Given the description of an element on the screen output the (x, y) to click on. 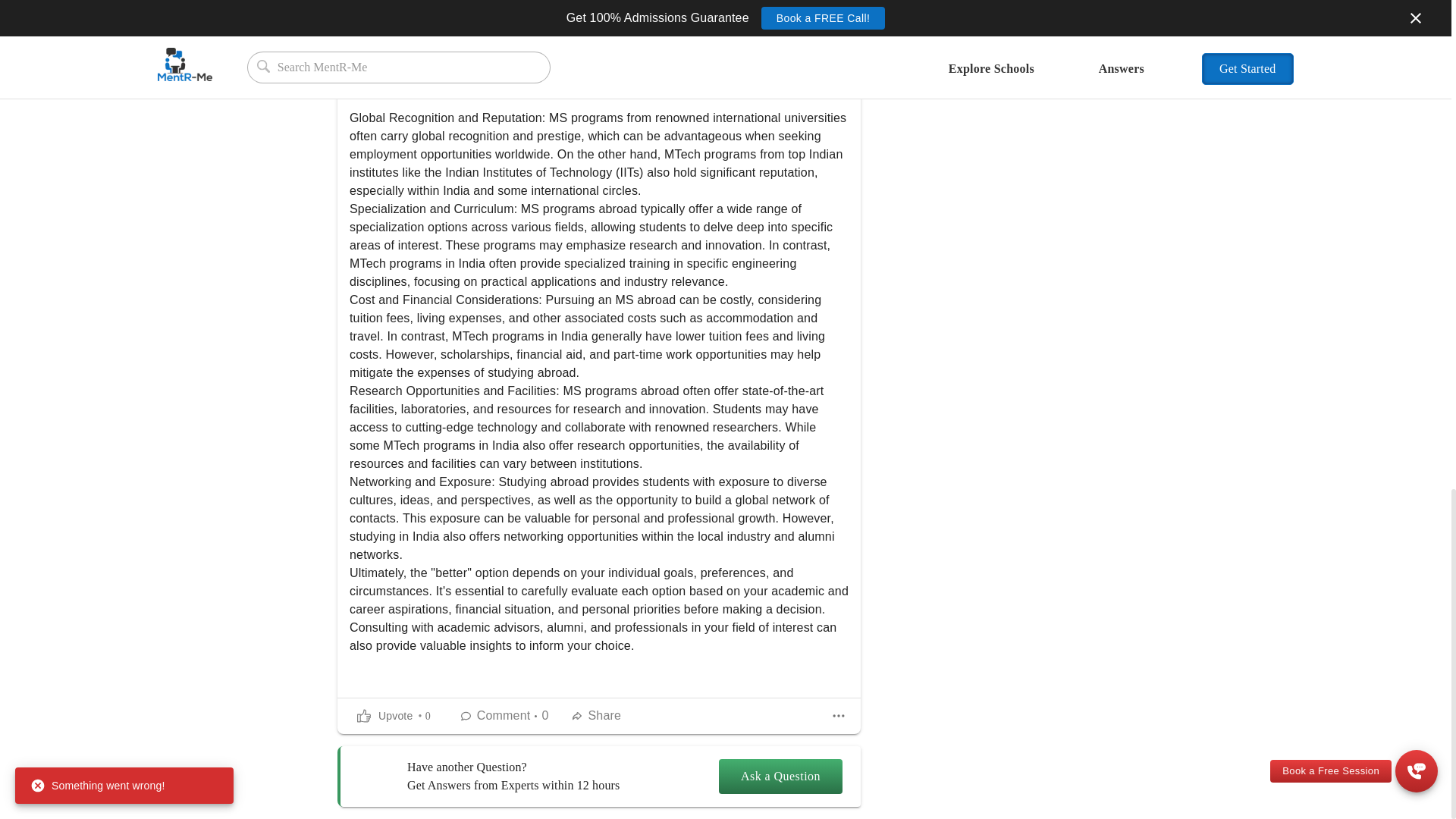
Add a comment to express your opinion (504, 715)
Ask a Question (781, 776)
Let your friends know about your latest discovery (598, 715)
Tap if the answer helped (393, 716)
